Given the description of an element on the screen output the (x, y) to click on. 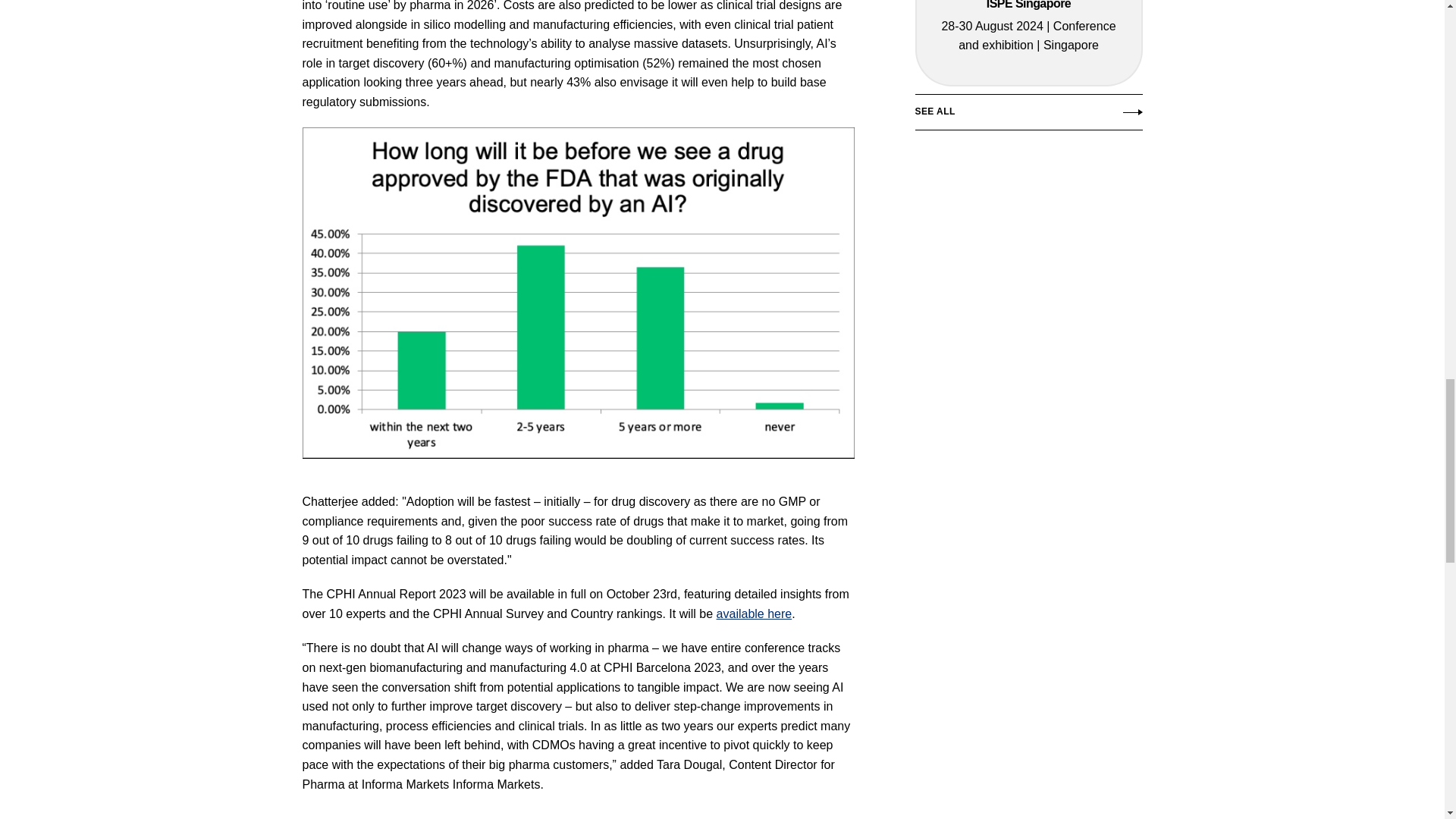
SEE ALL (1027, 115)
available here (754, 613)
